Given the description of an element on the screen output the (x, y) to click on. 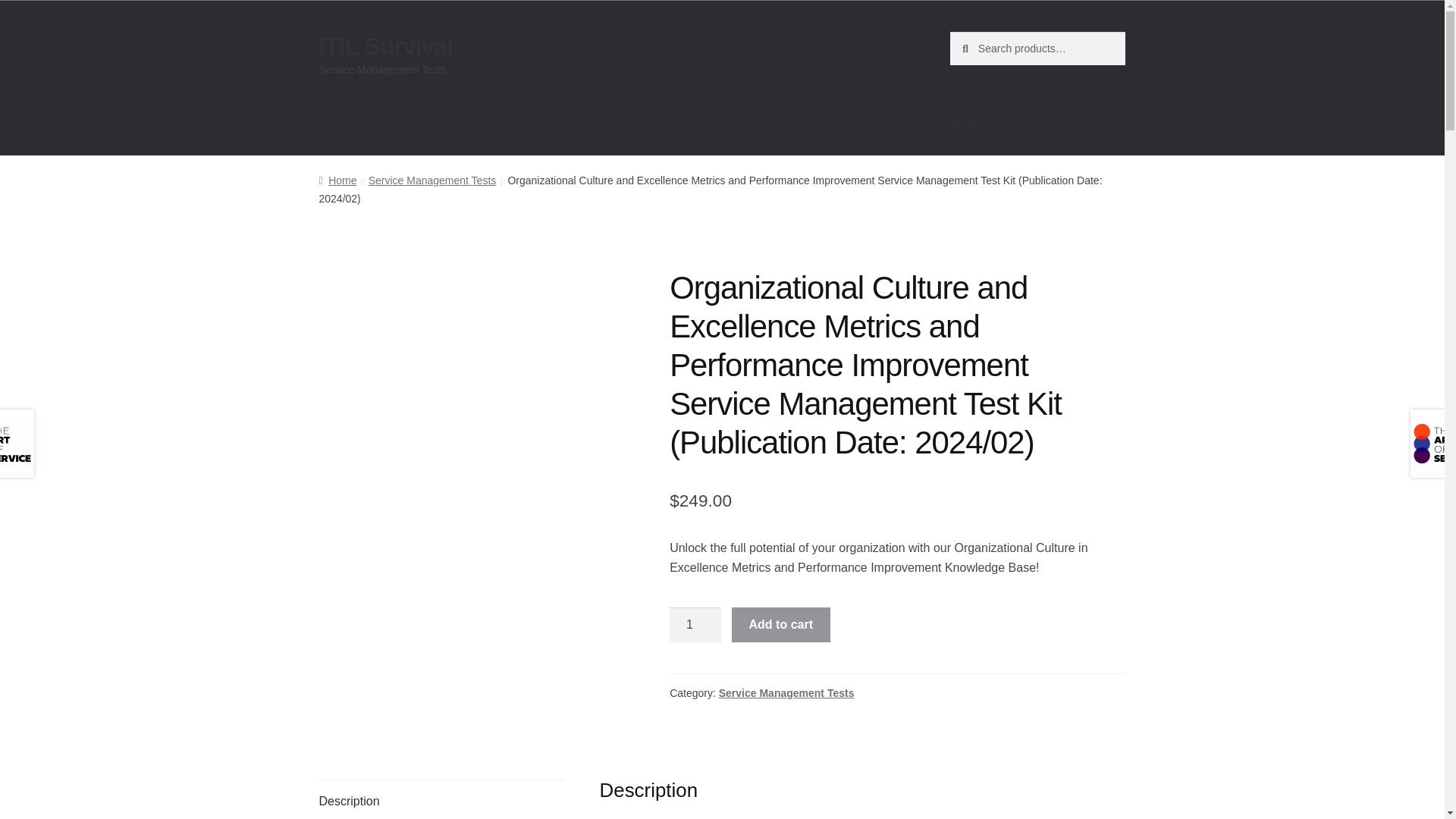
ITIL Survival (385, 45)
Add to cart (780, 624)
Service Management Tests (786, 693)
Service Management Tests (432, 180)
Description (441, 799)
Home (337, 180)
View your shopping cart (1037, 124)
1 (694, 624)
